Given the description of an element on the screen output the (x, y) to click on. 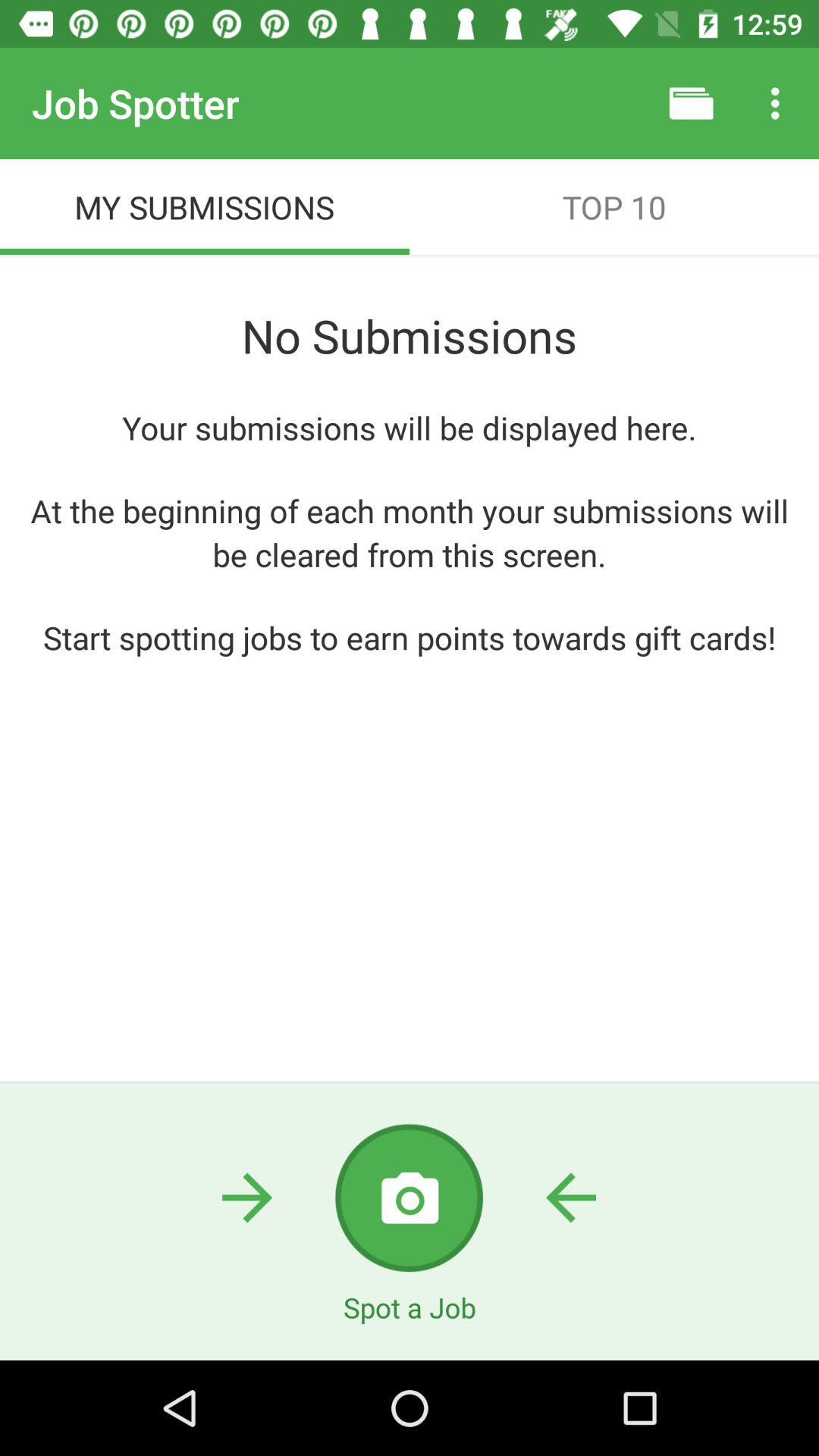
turn on the app next to the job spotter icon (691, 103)
